Given the description of an element on the screen output the (x, y) to click on. 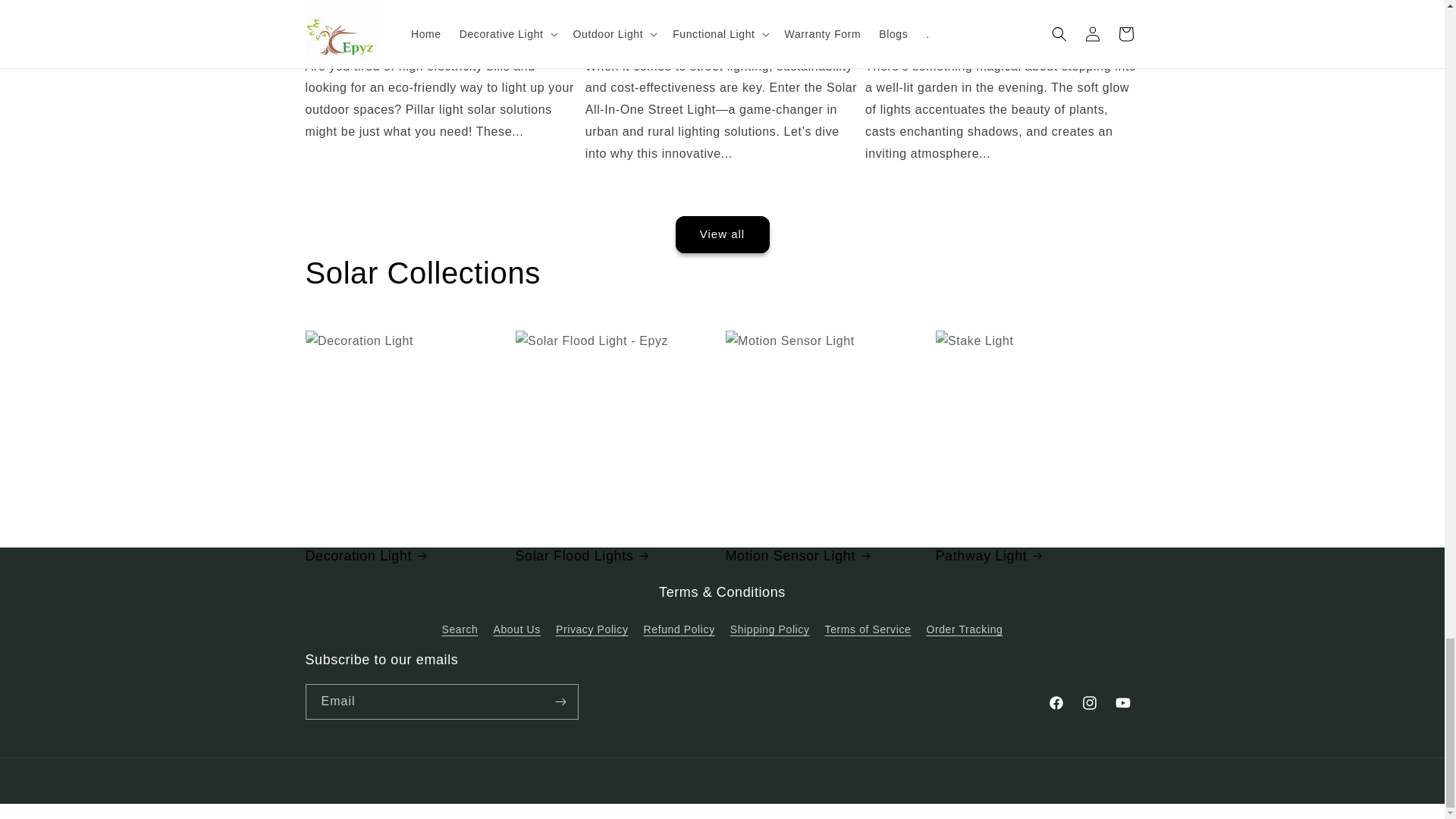
Solar Collections (422, 272)
View all (721, 685)
